Given the description of an element on the screen output the (x, y) to click on. 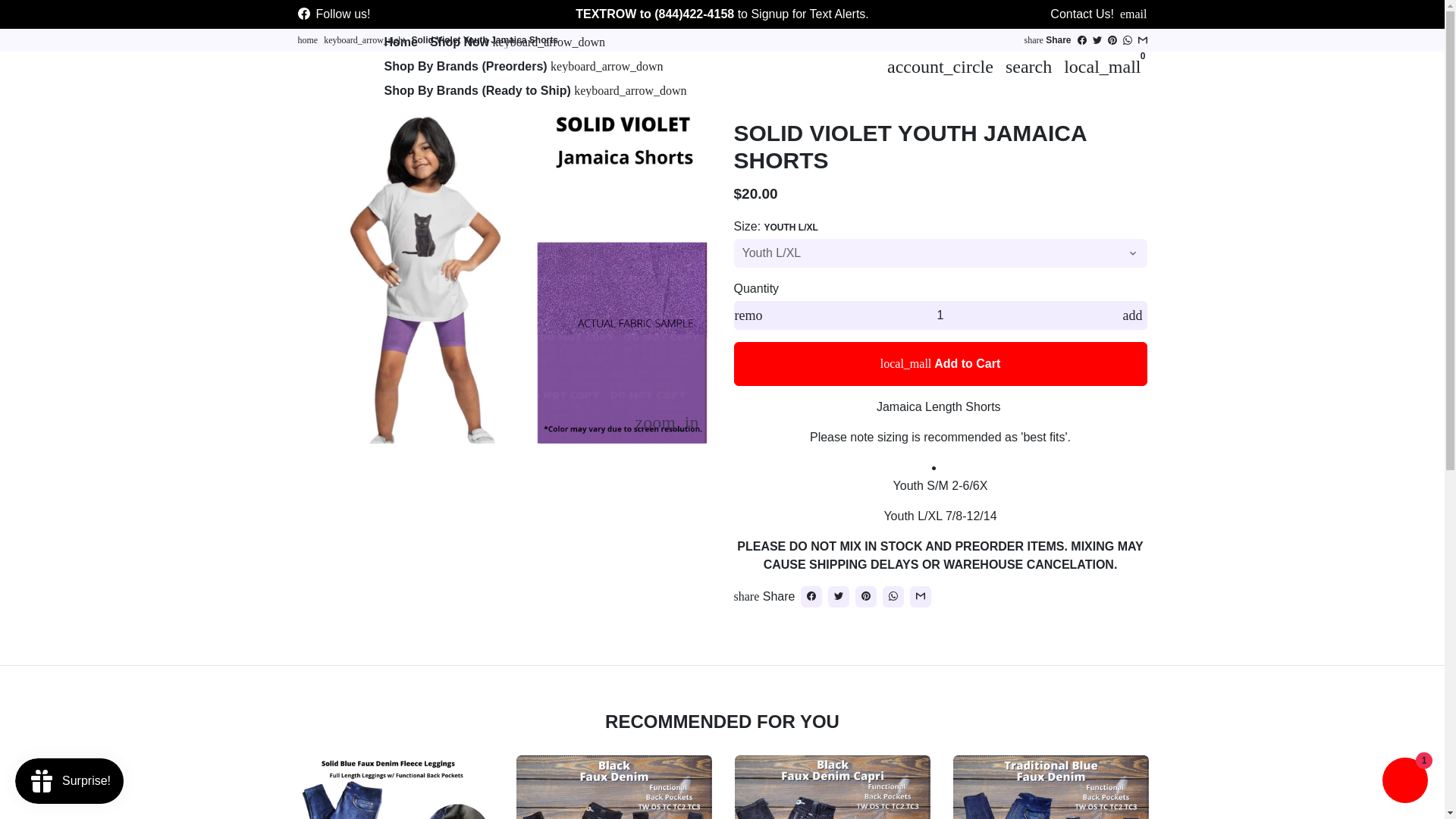
Search (1028, 66)
1 (940, 314)
Row's Boutique on Facebook (302, 13)
Log In (939, 66)
